Given the description of an element on the screen output the (x, y) to click on. 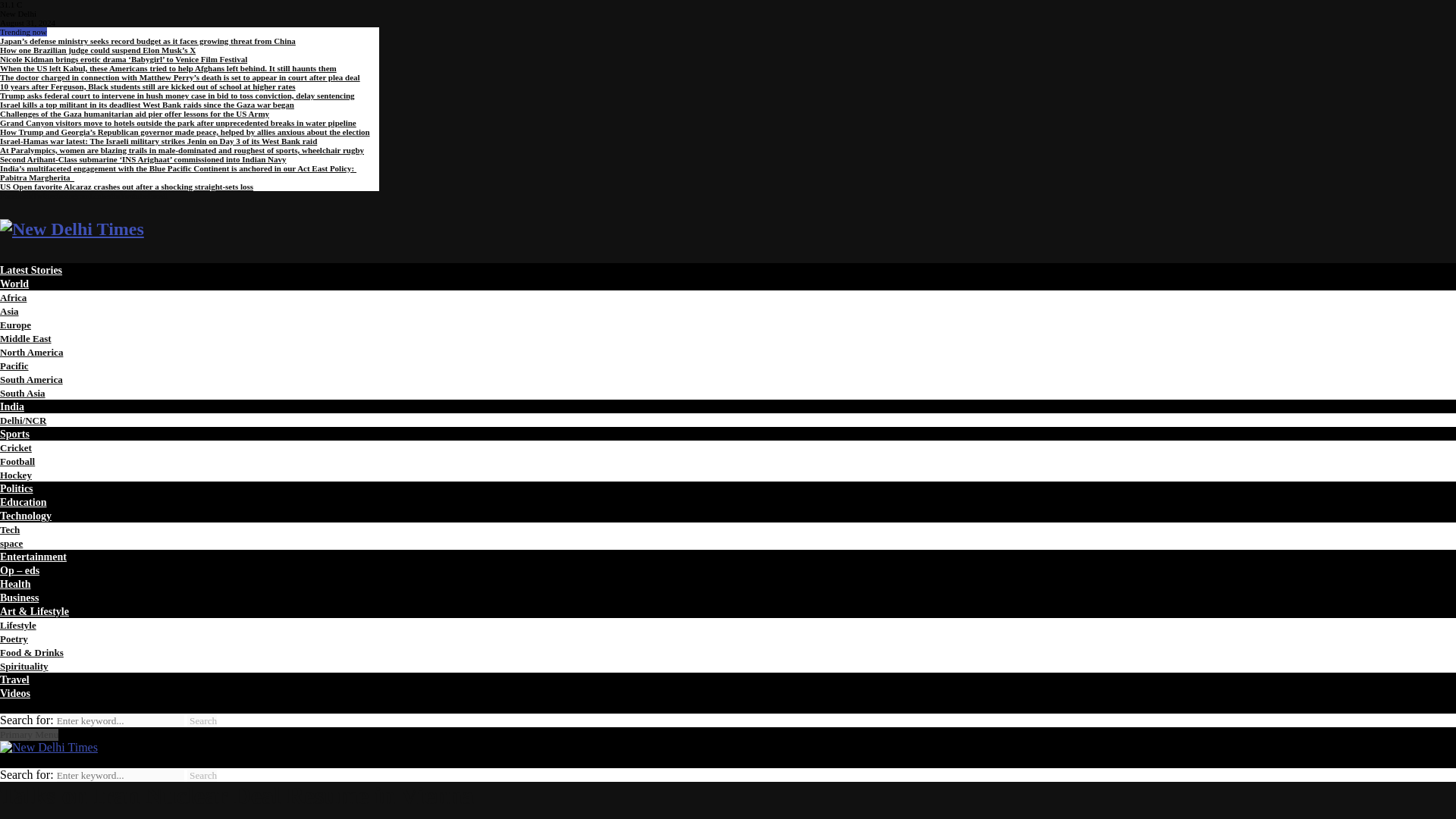
World (14, 283)
Facebook (16, 194)
India (12, 406)
Asia (9, 310)
Youtube (133, 194)
North America (31, 351)
